Given the description of an element on the screen output the (x, y) to click on. 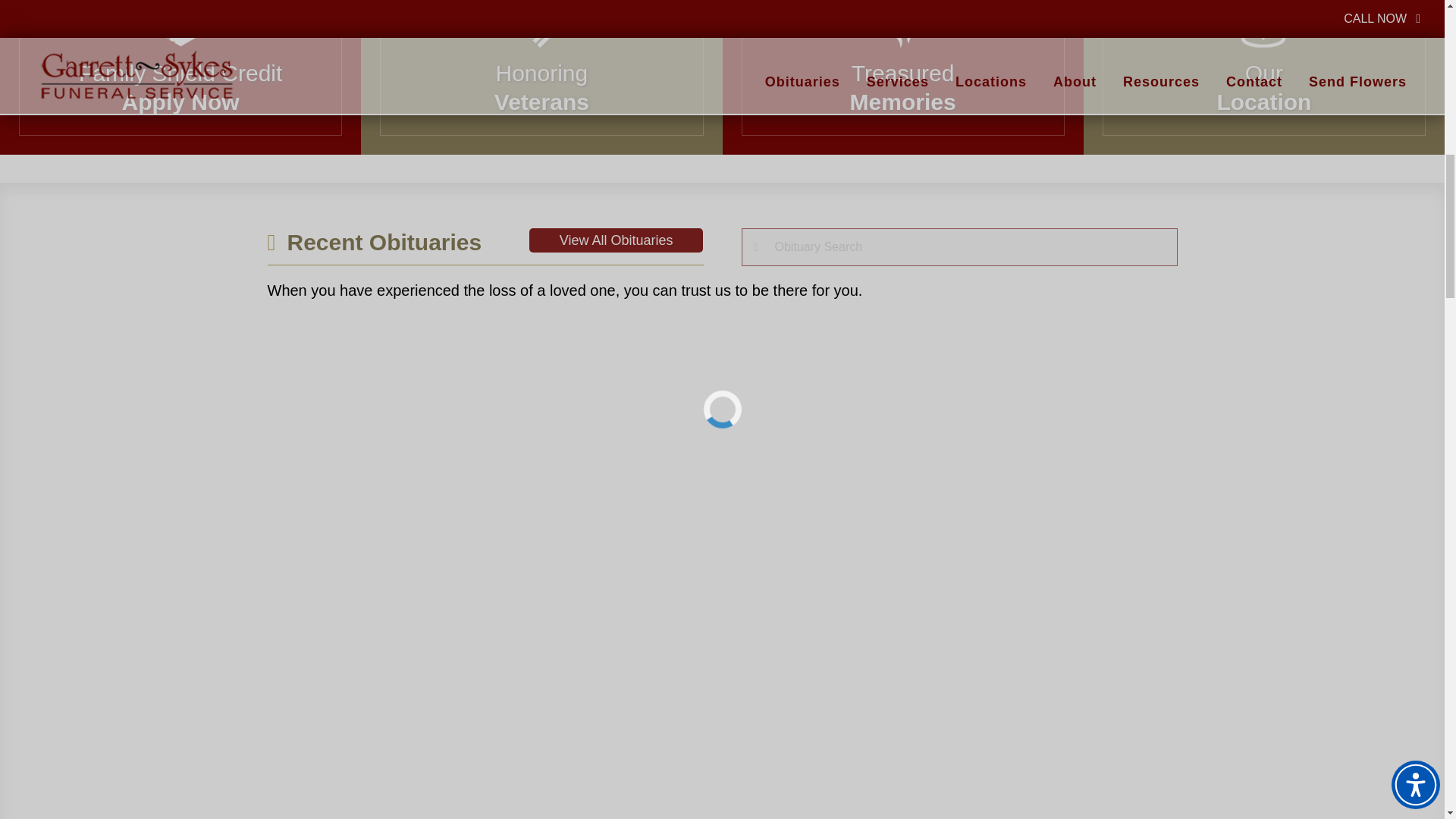
Stylized rose icon (902, 23)
Location marker icon (1263, 23)
American flag icon (541, 67)
Dove icon (541, 23)
View All Obituaries (180, 67)
